Given the description of an element on the screen output the (x, y) to click on. 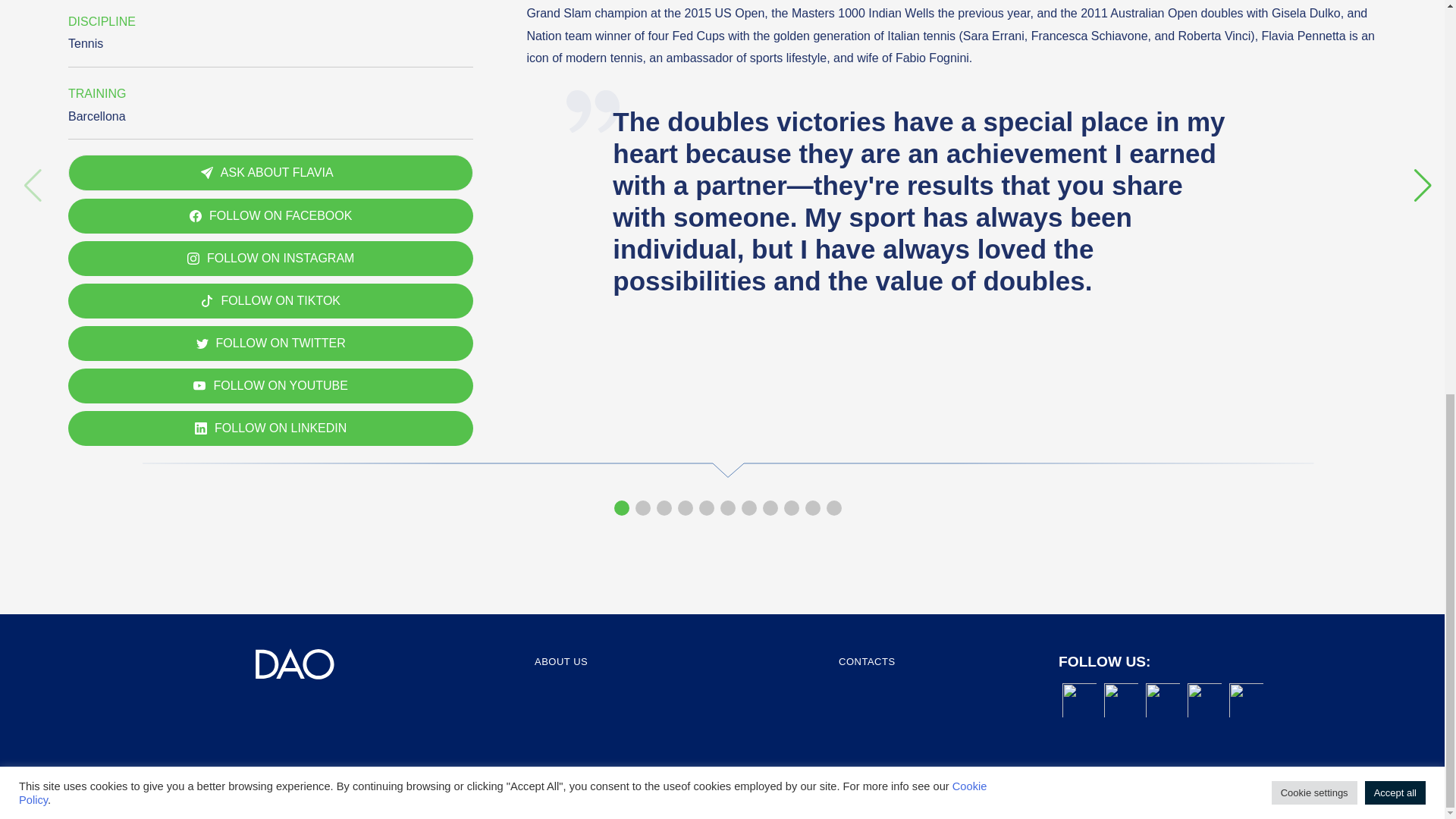
FOLLOW ON TIKTOK (270, 300)
FOLLOW ON FACEBOOK (270, 216)
ASK ABOUT FLAVIA (270, 172)
FOLLOW ON LINKEDIN (270, 428)
FOLLOW ON YOUTUBE (270, 385)
FOLLOW ON TWITTER (270, 343)
FOLLOW ON INSTAGRAM (270, 258)
